Given the description of an element on the screen output the (x, y) to click on. 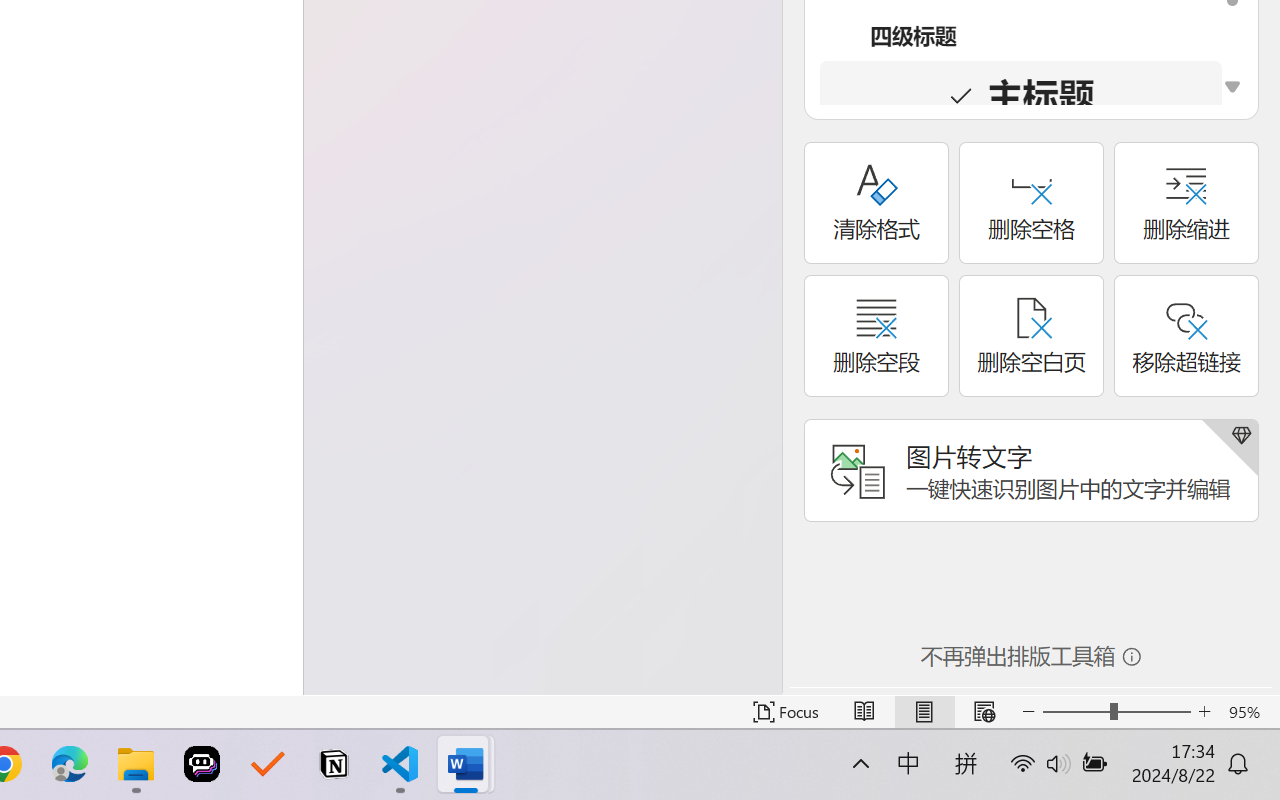
Zoom 95% (1249, 712)
